Given the description of an element on the screen output the (x, y) to click on. 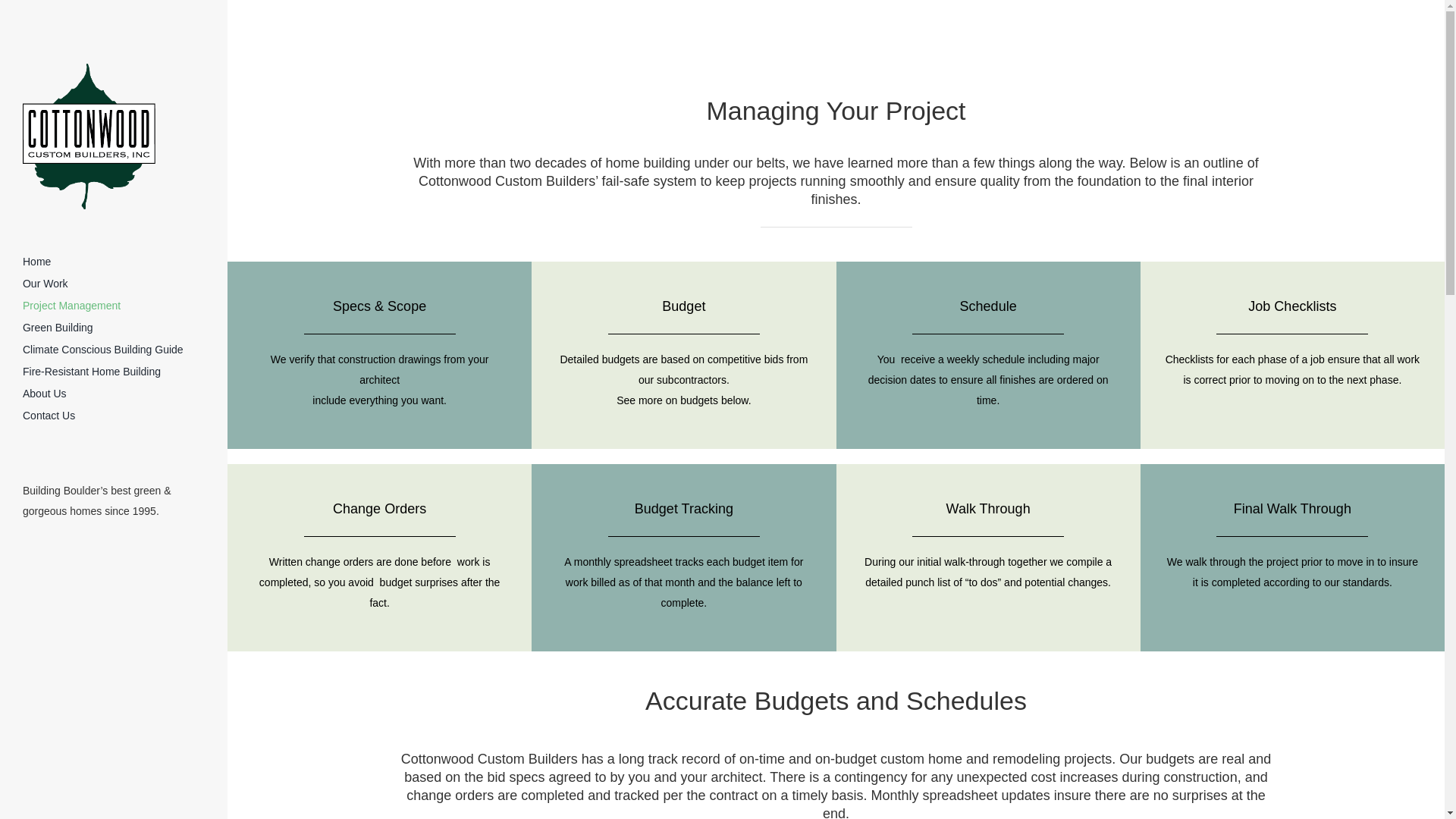
Climate Conscious Building Guide (114, 349)
Fire-Resistant Home Building (114, 371)
Contact Us (114, 415)
Project Management (114, 305)
Our Work (114, 283)
Green Building (114, 327)
cottonwood-logo-retina (89, 136)
About Us (114, 394)
Home (114, 261)
